Given the description of an element on the screen output the (x, y) to click on. 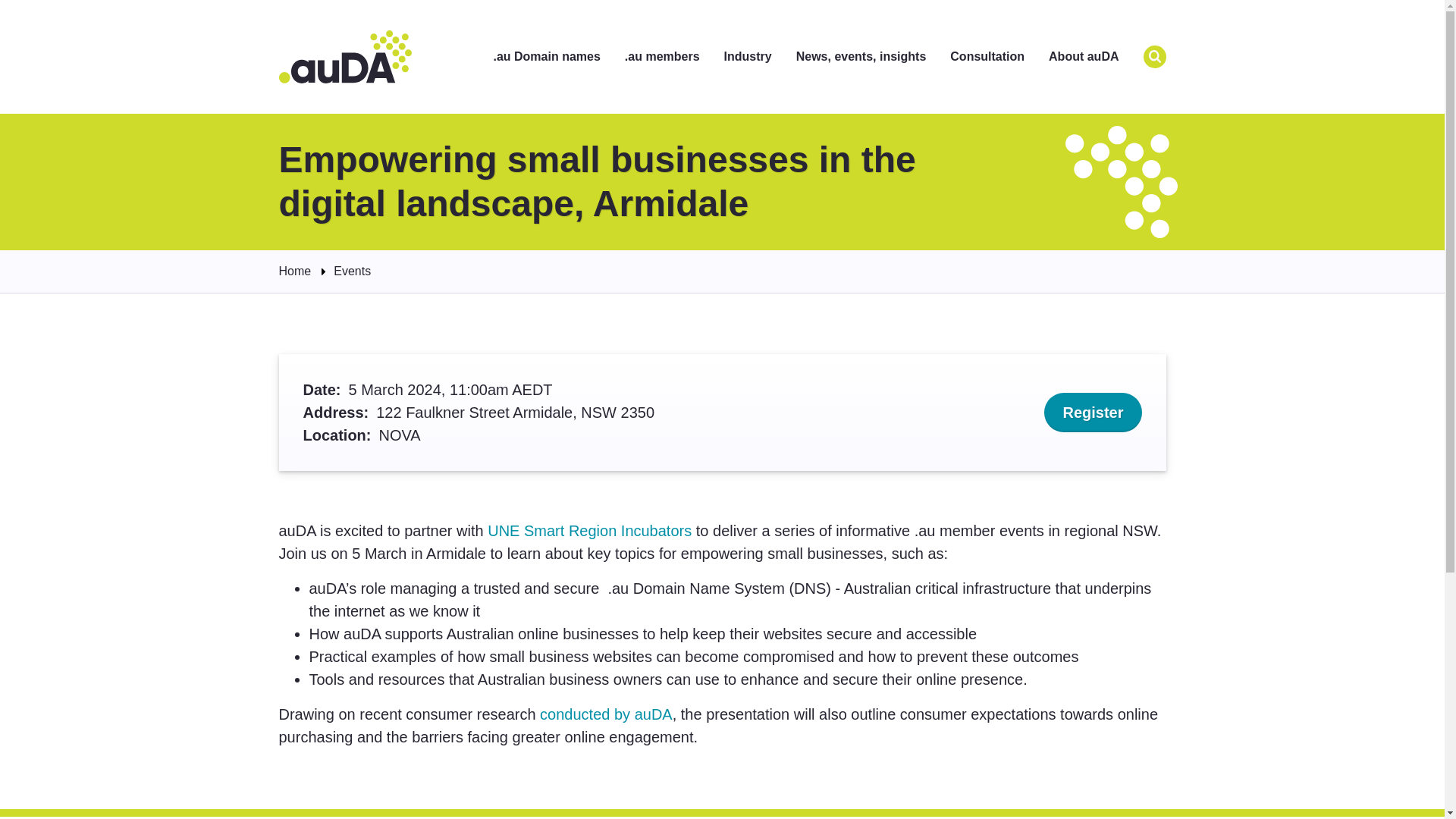
Apply (1154, 56)
Home (345, 56)
.au Domain names (545, 56)
